Given the description of an element on the screen output the (x, y) to click on. 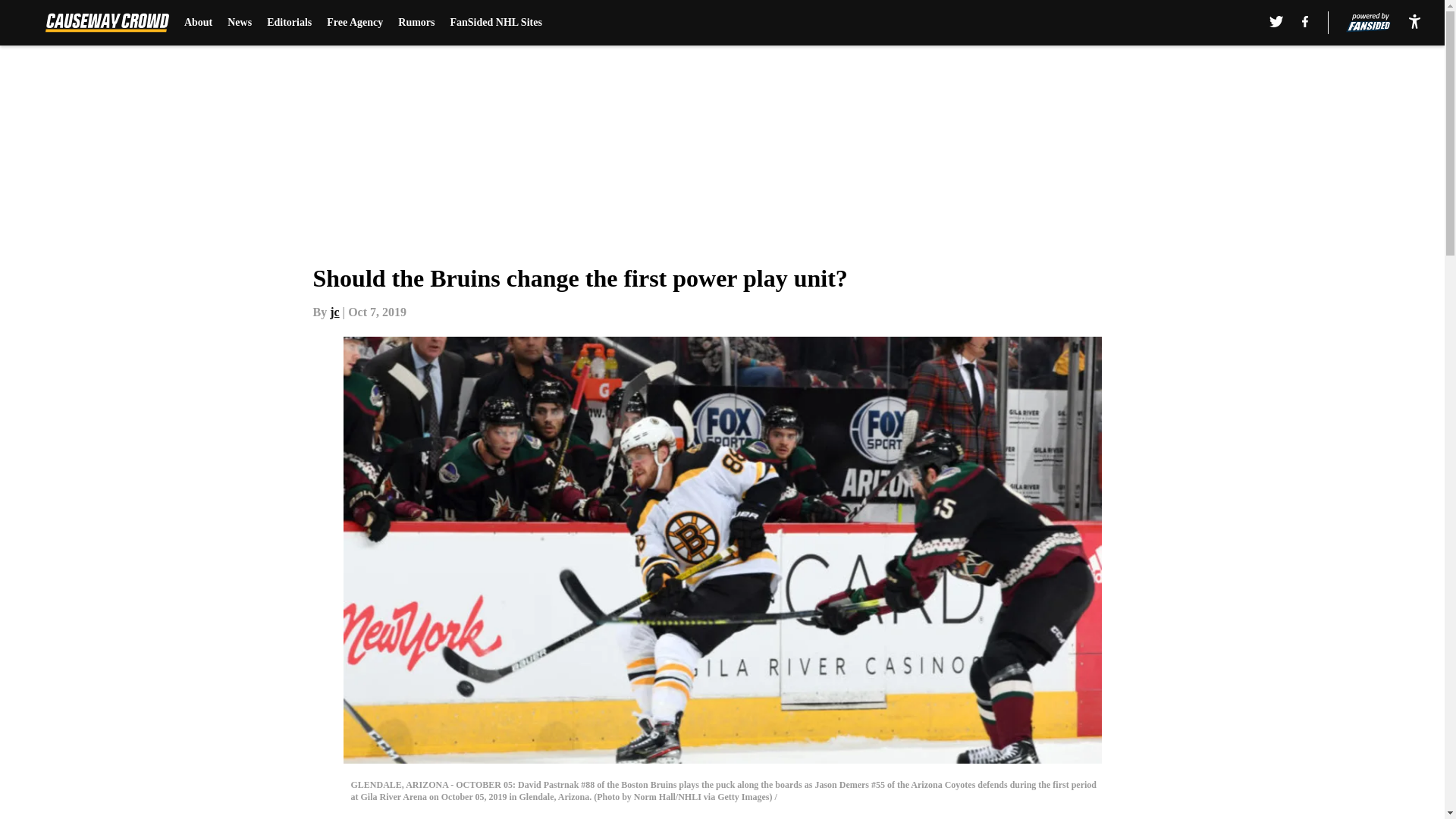
Free Agency (354, 22)
Editorials (288, 22)
Rumors (415, 22)
FanSided NHL Sites (495, 22)
About (198, 22)
News (239, 22)
